Given the description of an element on the screen output the (x, y) to click on. 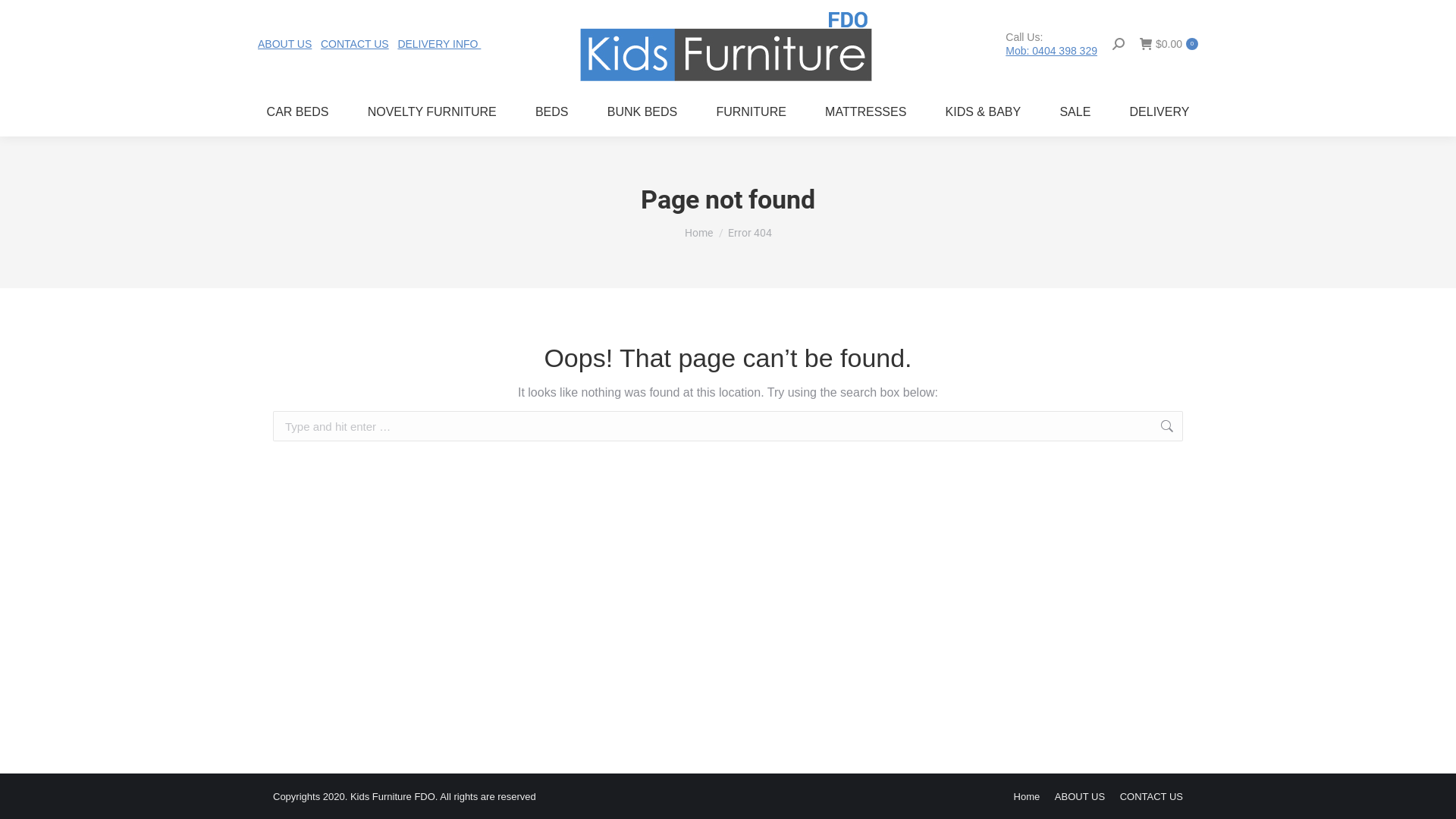
ABOUT US Element type: text (1079, 796)
Home Element type: text (698, 232)
DELIVERY Element type: text (1159, 111)
NOVELTY FURNITURE Element type: text (431, 111)
KIDS & BABY Element type: text (982, 111)
BEDS Element type: text (551, 111)
Mob: 0404 398 329 Element type: text (1051, 49)
BUNK BEDS Element type: text (642, 111)
MATTRESSES Element type: text (865, 111)
SALE Element type: text (1075, 111)
CONTACT US Element type: text (354, 43)
$0.00
0 Element type: text (1168, 43)
FURNITURE Element type: text (751, 111)
Home Element type: text (1026, 796)
DELIVERY INFO  Element type: text (438, 43)
CONTACT US Element type: text (1151, 796)
Go! Element type: text (1206, 427)
Go! Element type: text (23, 16)
CAR BEDS Element type: text (297, 111)
ABOUT US Element type: text (284, 43)
